Given the description of an element on the screen output the (x, y) to click on. 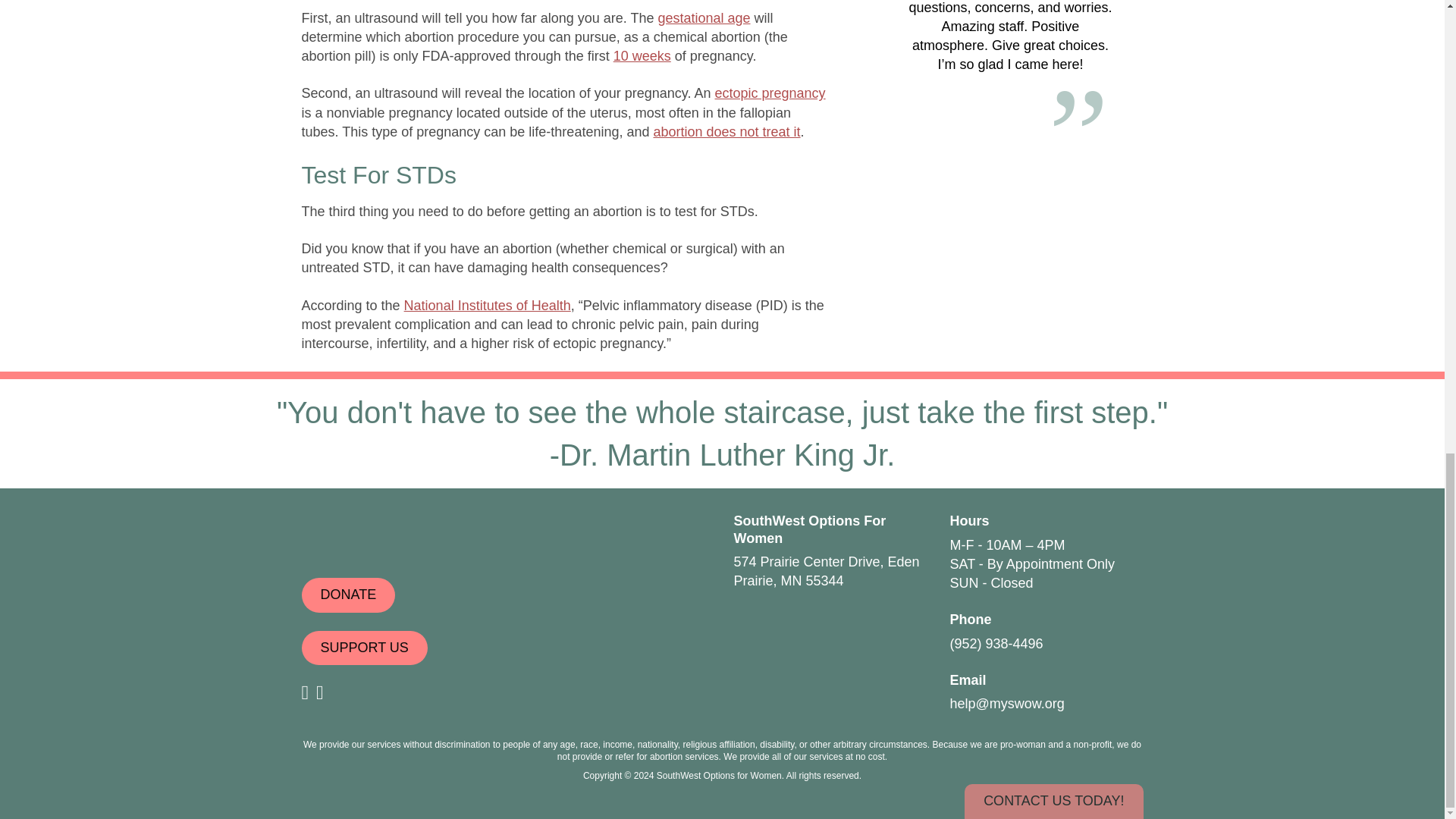
DONATE (348, 595)
SUPPORT US (364, 647)
gestational age (703, 17)
ectopic pregnancy (769, 92)
10 weeks (641, 55)
abortion does not treat it (725, 131)
National Institutes of Health (487, 305)
